Given the description of an element on the screen output the (x, y) to click on. 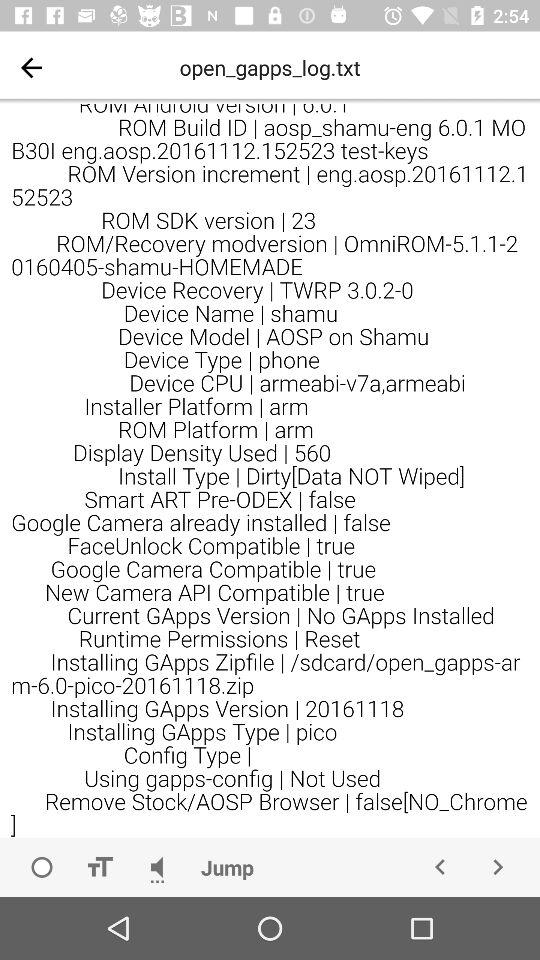
choose jump icon (227, 866)
